Given the description of an element on the screen output the (x, y) to click on. 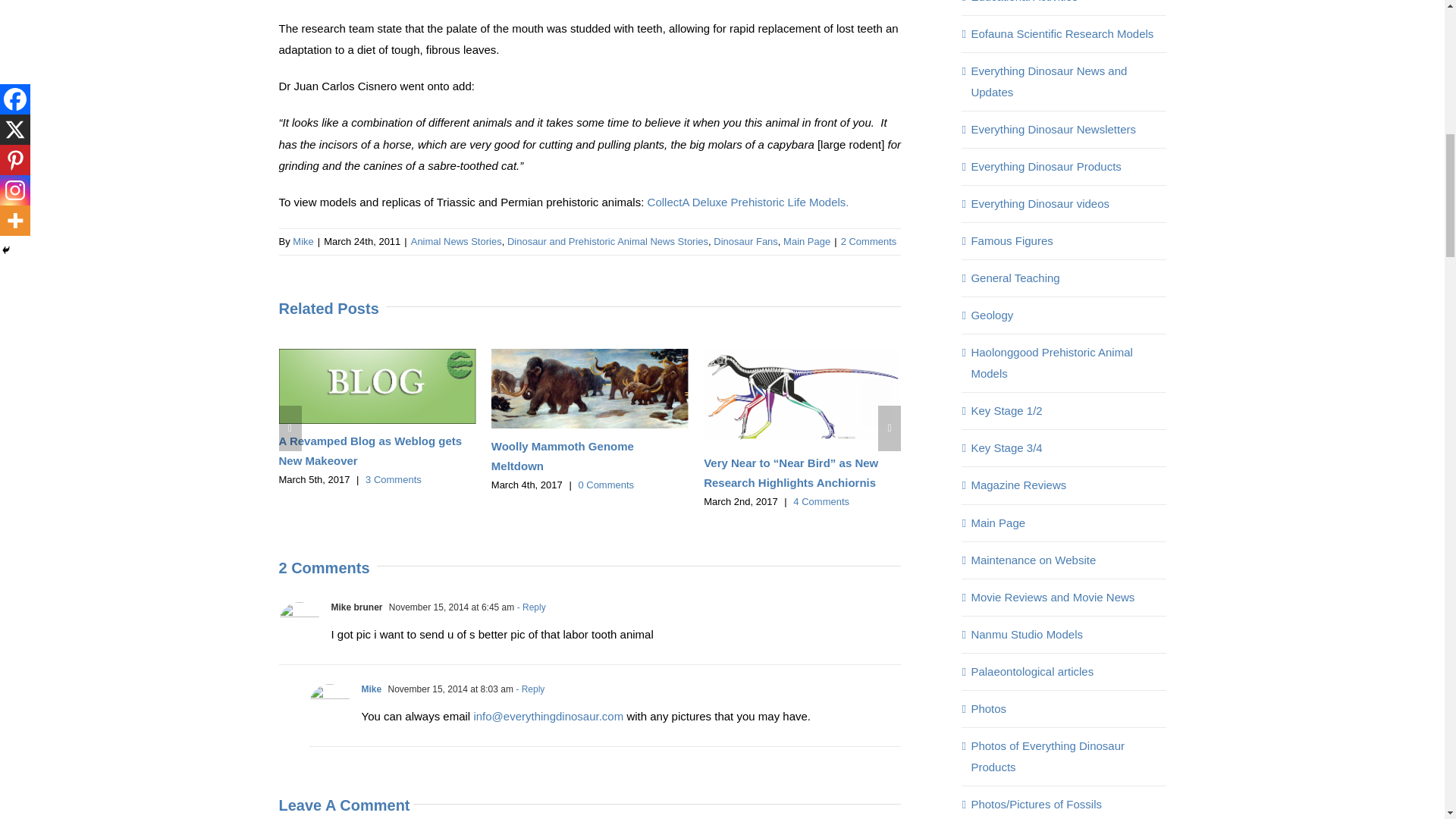
Mike (302, 241)
CollectA Deluxe Prehistoric Life Models. (747, 201)
Main Page (806, 241)
2 Comments (868, 241)
Posts by Mike (302, 241)
CollectA Deluxe Prehistoric Life Models. (747, 201)
Dinosaur and Prehistoric Animal News Stories (606, 241)
Dinosaur Fans (745, 241)
Animal News Stories (456, 241)
